Given the description of an element on the screen output the (x, y) to click on. 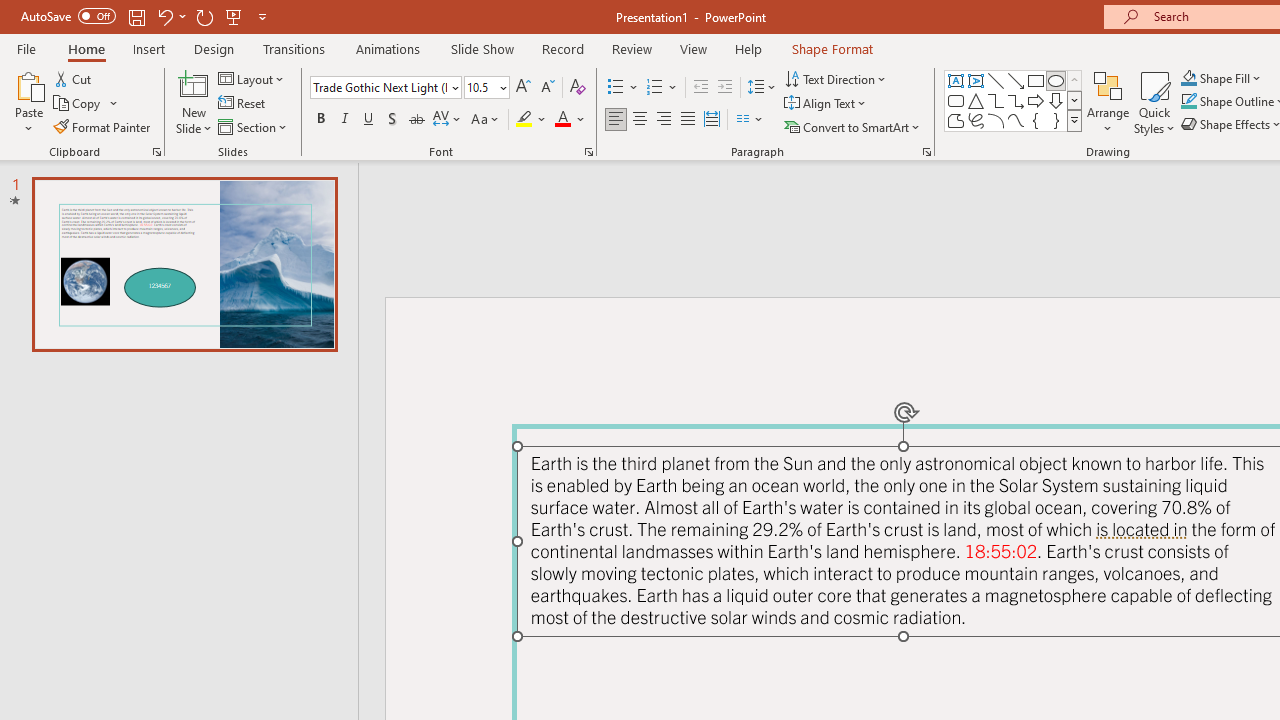
Paragraph... (926, 151)
Animations (388, 48)
Center (639, 119)
Oval (1055, 80)
Text Highlight Color Yellow (524, 119)
Insert (149, 48)
Connector: Elbow Arrow (1016, 100)
Italic (344, 119)
Text Direction (836, 78)
Paste (28, 102)
Shape Fill Aqua, Accent 2 (1188, 78)
Decrease Indent (700, 87)
Text Box (955, 80)
Numbering (654, 87)
